Given the description of an element on the screen output the (x, y) to click on. 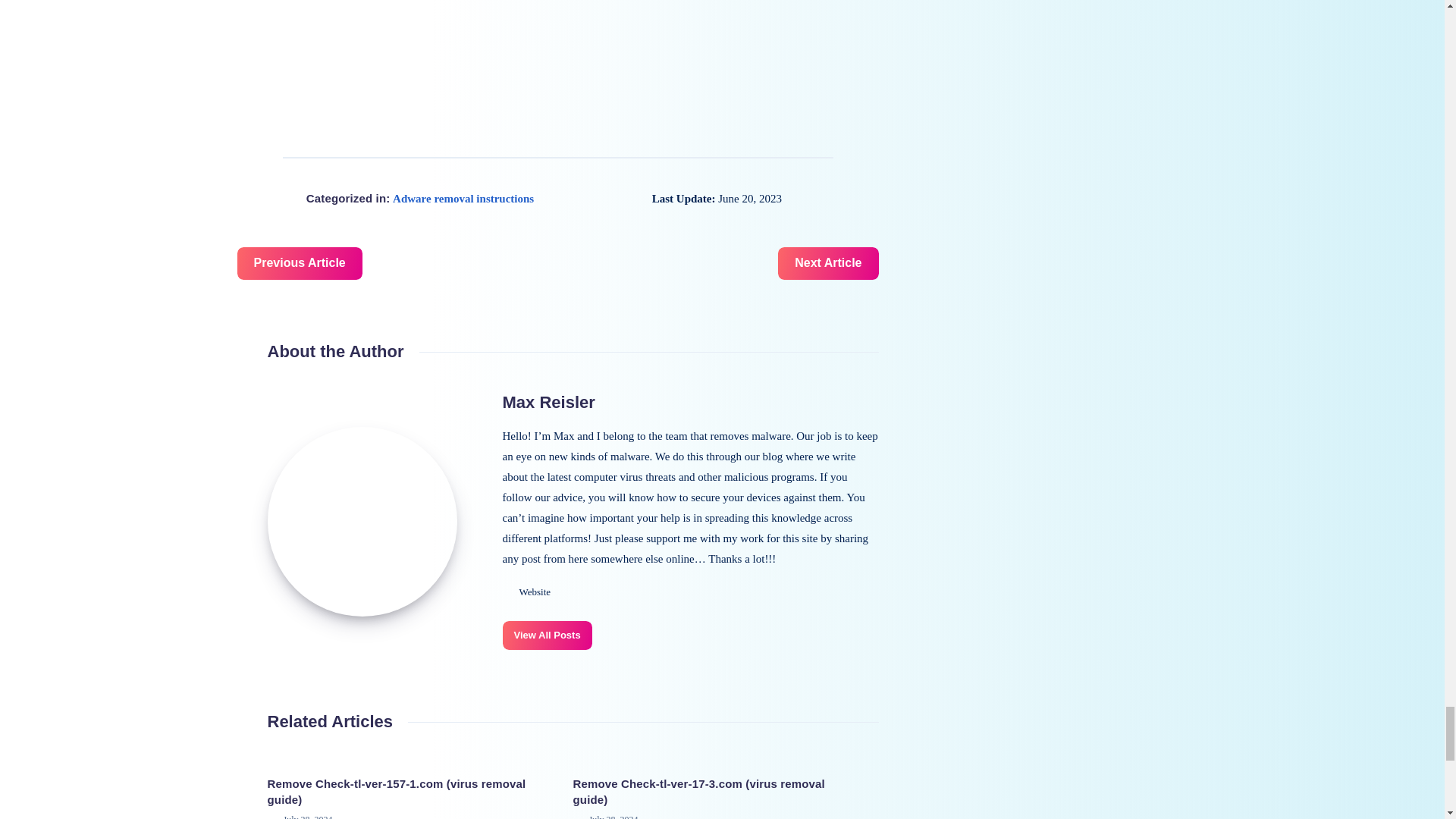
Max Reisler (548, 402)
View All Posts (546, 634)
Website (526, 591)
Max Reisler (361, 521)
Previous Article (298, 263)
Next Article (827, 263)
Adware removal instructions (463, 198)
